Given the description of an element on the screen output the (x, y) to click on. 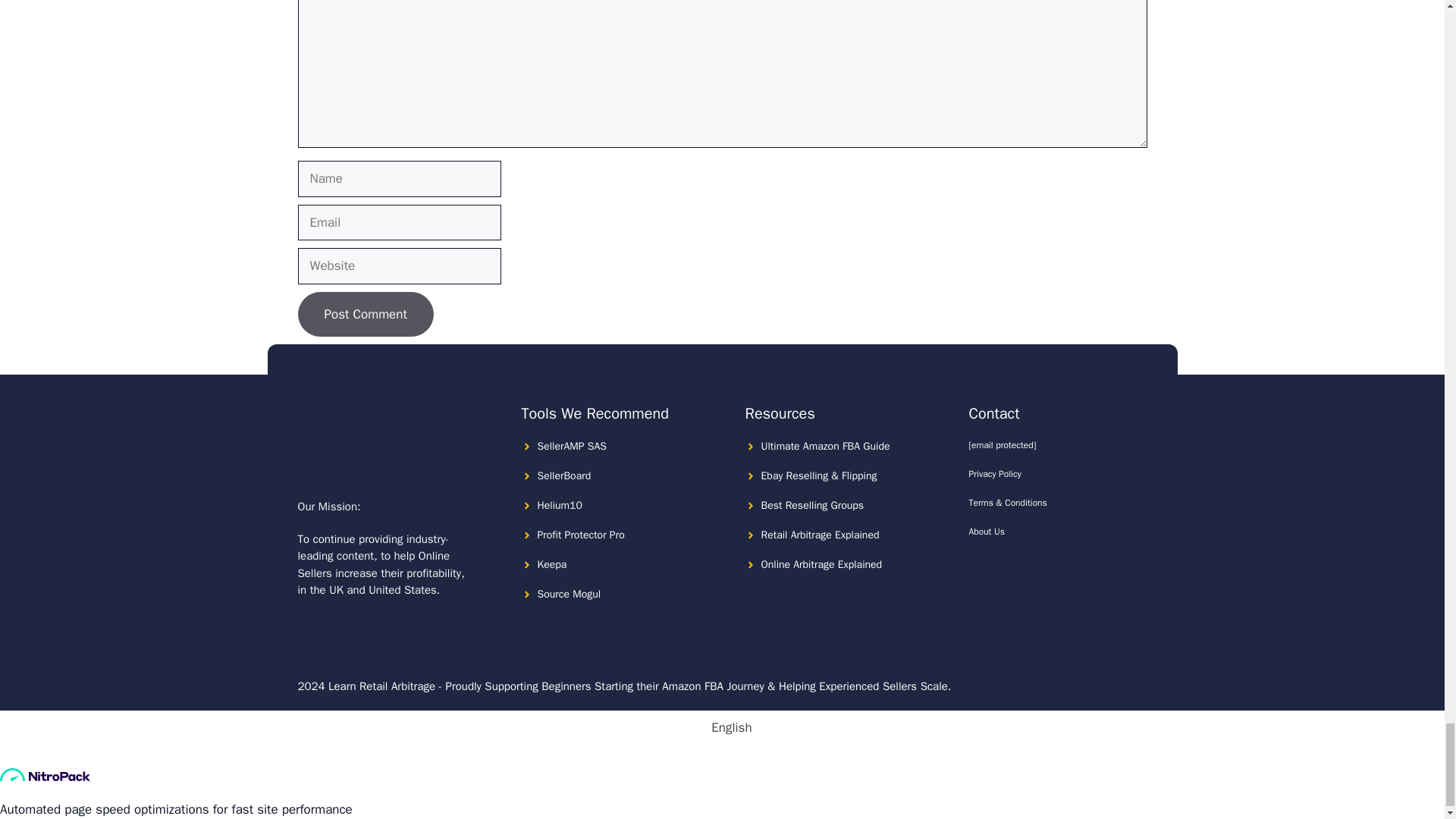
Ultimate Amazon FBA Guide (825, 445)
SellerAMP SAS (571, 445)
Helium10 (558, 504)
Post Comment (364, 314)
Keepa (551, 563)
Source Mogul (568, 594)
Profit Protector Pro (580, 534)
Online Arbitrage Explained (821, 563)
Retail Arbitrage Explained (820, 534)
SellerBoard (564, 475)
